Given the description of an element on the screen output the (x, y) to click on. 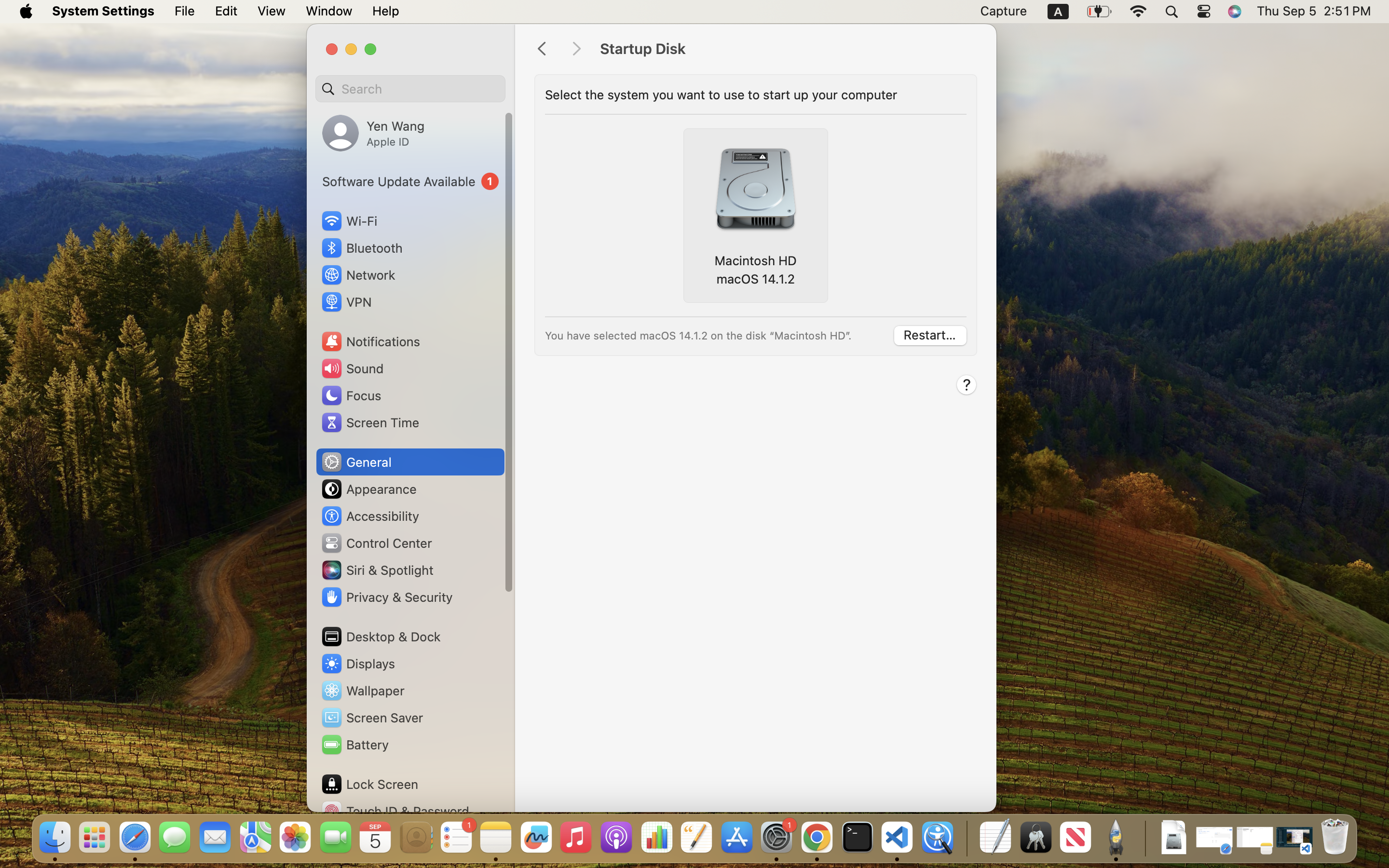
Touch ID & Password Element type: AXStaticText (394, 810)
VPN Element type: AXStaticText (345, 301)
Screen Time Element type: AXStaticText (369, 422)
Network Element type: AXStaticText (357, 274)
Sound Element type: AXStaticText (351, 367)
